Given the description of an element on the screen output the (x, y) to click on. 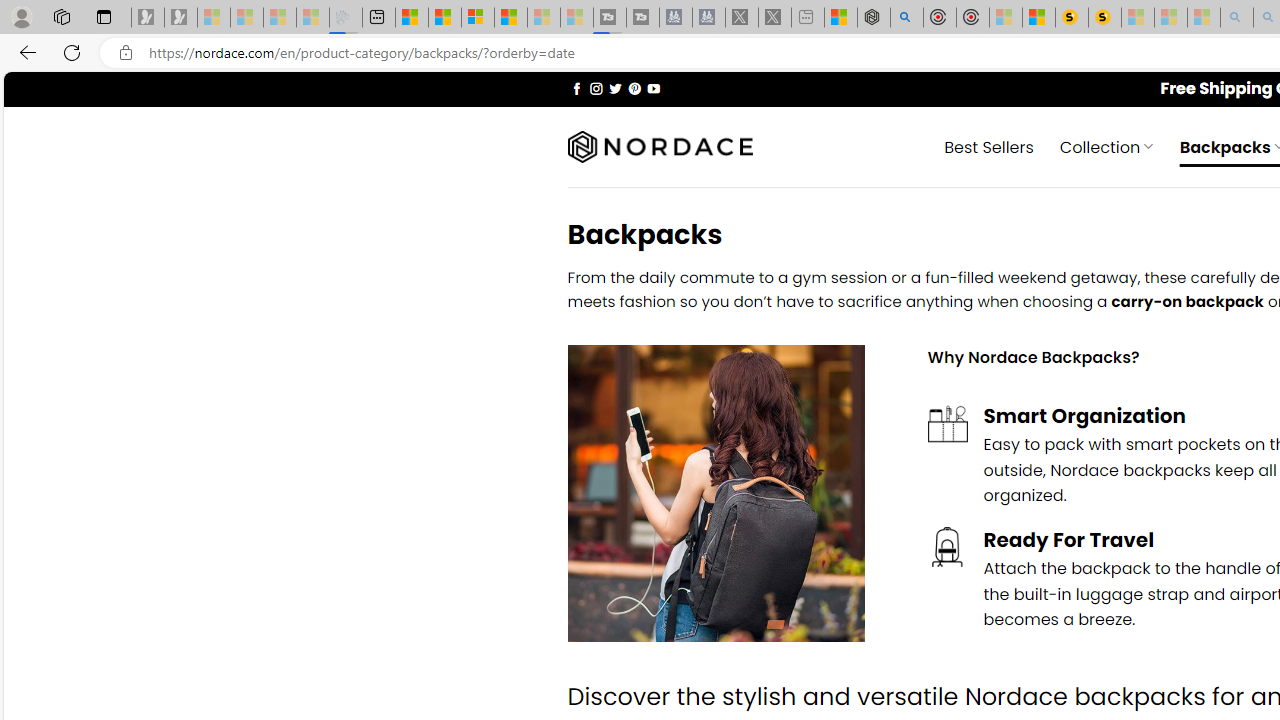
Follow on Pinterest (634, 88)
poe - Search (906, 17)
Overview (478, 17)
Wildlife - MSN (841, 17)
Follow on Twitter (615, 88)
